Given the description of an element on the screen output the (x, y) to click on. 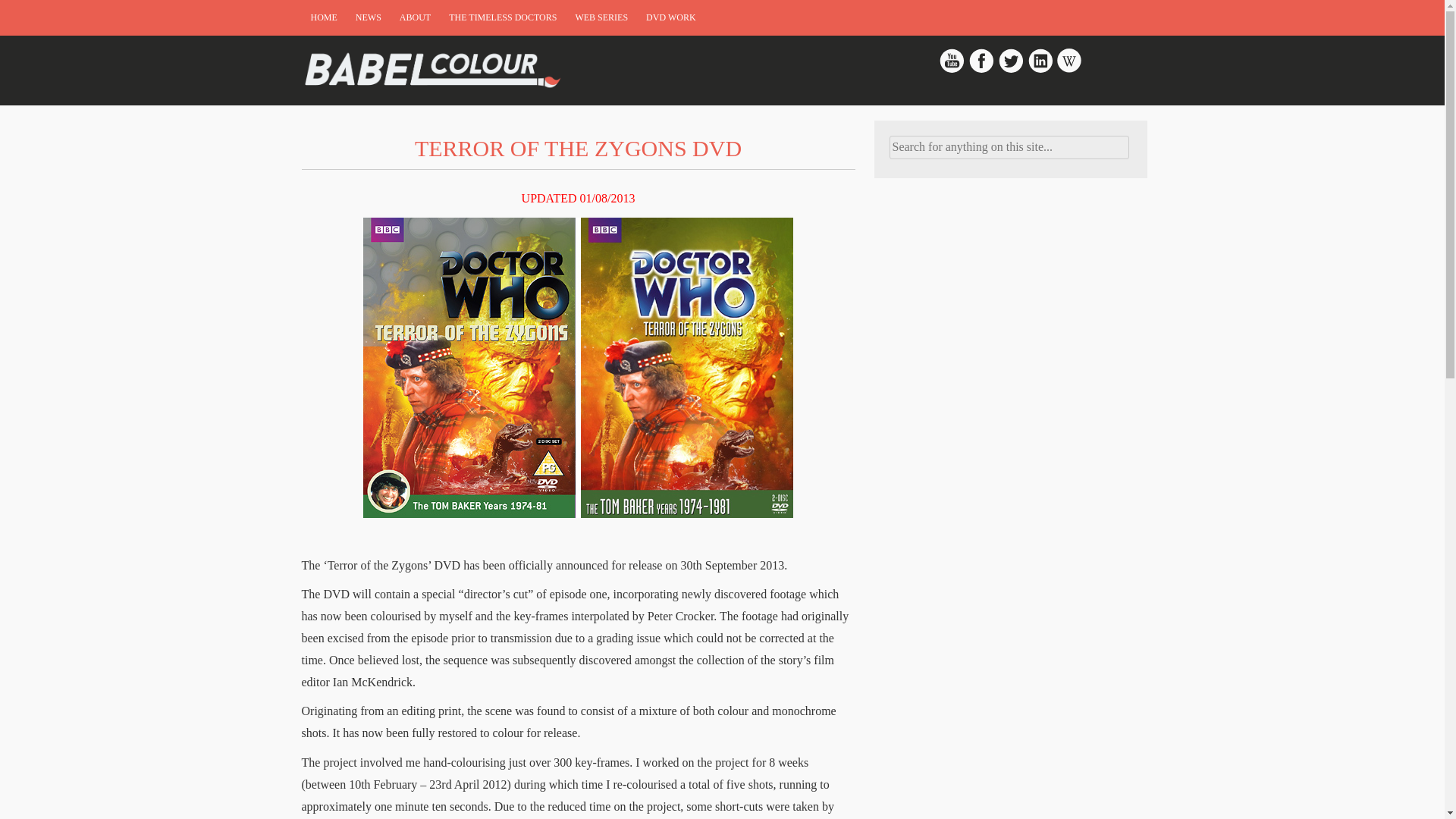
THE TIMELESS DOCTORS (502, 18)
HOME (323, 18)
Skip to content (308, 31)
Babelcolour (434, 68)
Babelcolour on Twitter (1012, 69)
ABOUT (414, 18)
NEWS (368, 18)
DVD WORK (670, 18)
WEB SERIES (601, 18)
Babelcolour (434, 69)
Babelcolour on Facebook (981, 69)
LinkedIn (1040, 69)
SKIP TO CONTENT (308, 31)
Babelcolour on YouTube (953, 69)
Wikipedia (1069, 69)
